Given the description of an element on the screen output the (x, y) to click on. 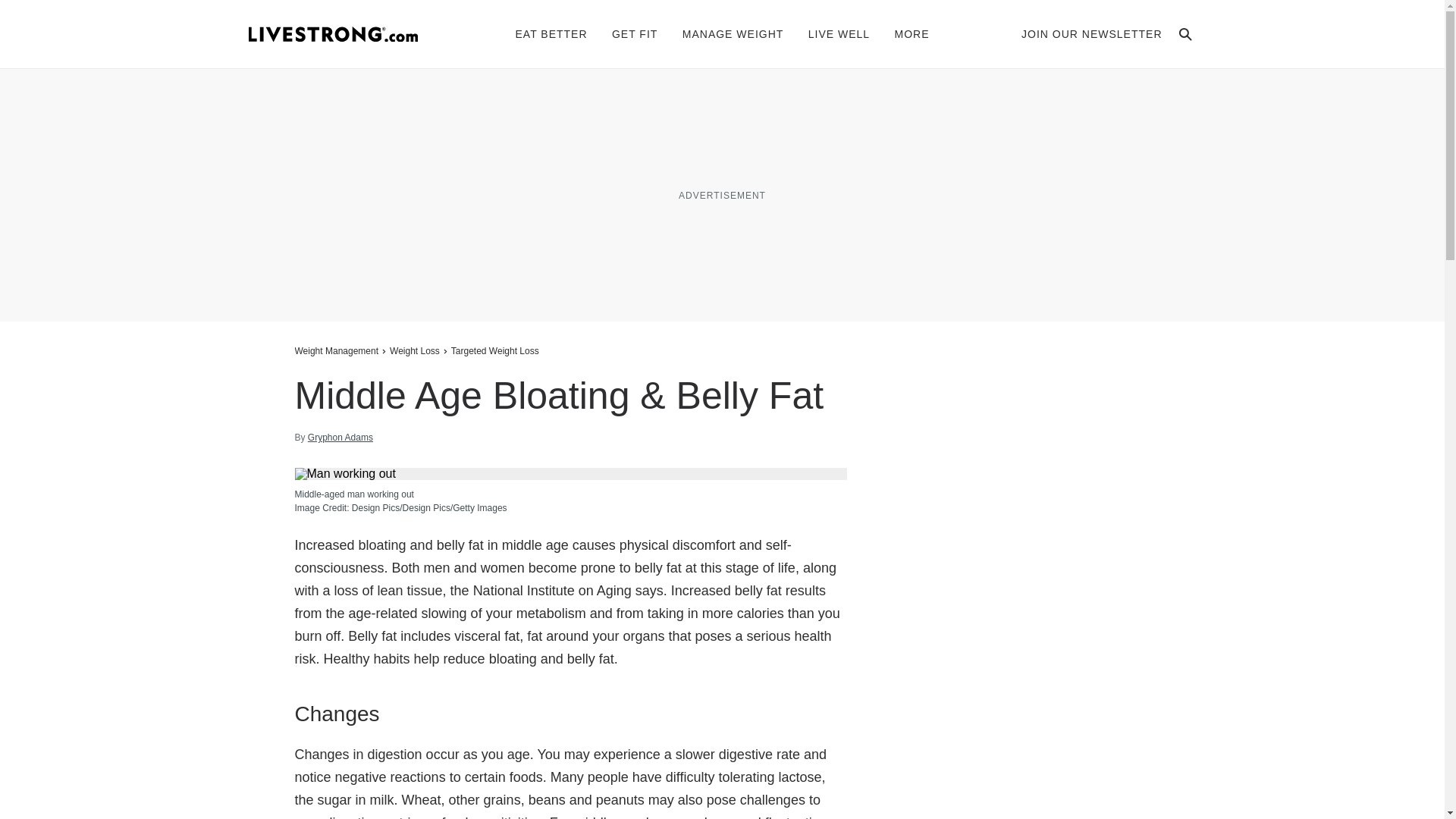
LIVE WELL (838, 33)
Targeted Weight Loss (494, 350)
Gryphon Adams (339, 437)
JOIN OUR NEWSLETTER (1091, 33)
MANAGE WEIGHT (733, 33)
Weight Loss (414, 350)
GET FIT (634, 33)
EAT BETTER (551, 33)
Weight Management (337, 350)
